Given the description of an element on the screen output the (x, y) to click on. 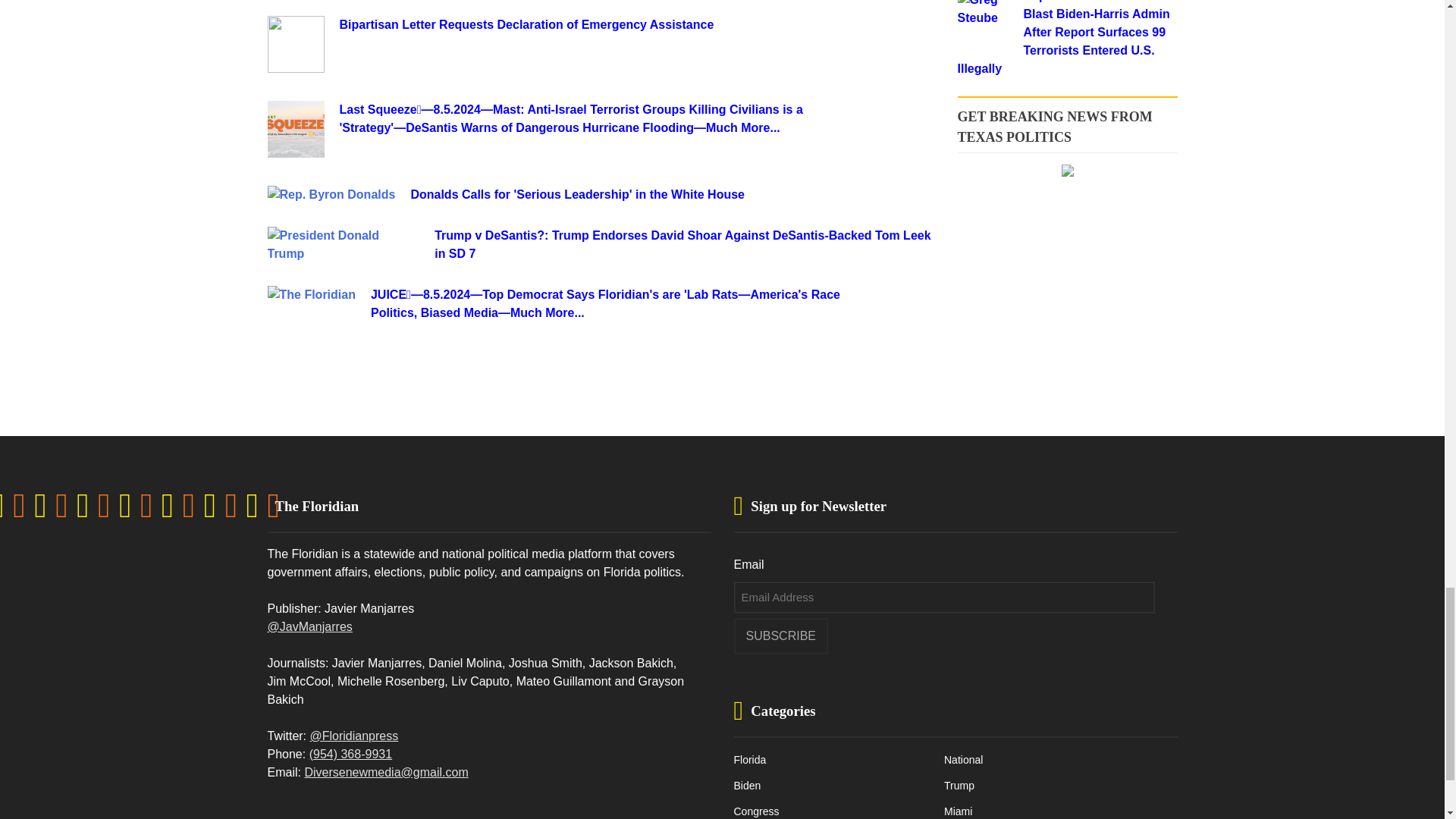
SUBSCRIBE (780, 636)
